Given the description of an element on the screen output the (x, y) to click on. 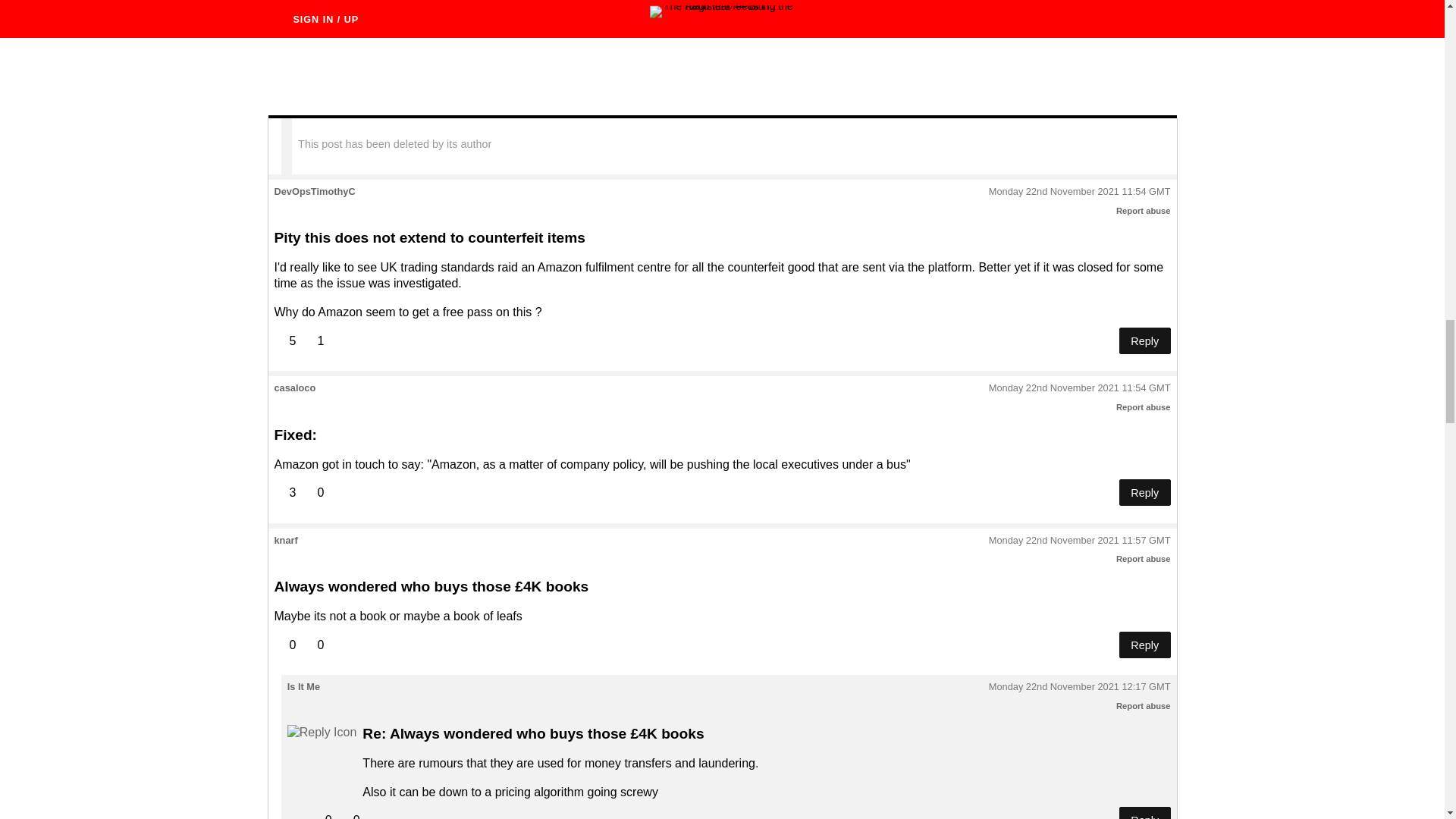
Report abuse (1143, 705)
Report abuse (1143, 558)
Report abuse (1143, 210)
Report abuse (1143, 406)
